Given the description of an element on the screen output the (x, y) to click on. 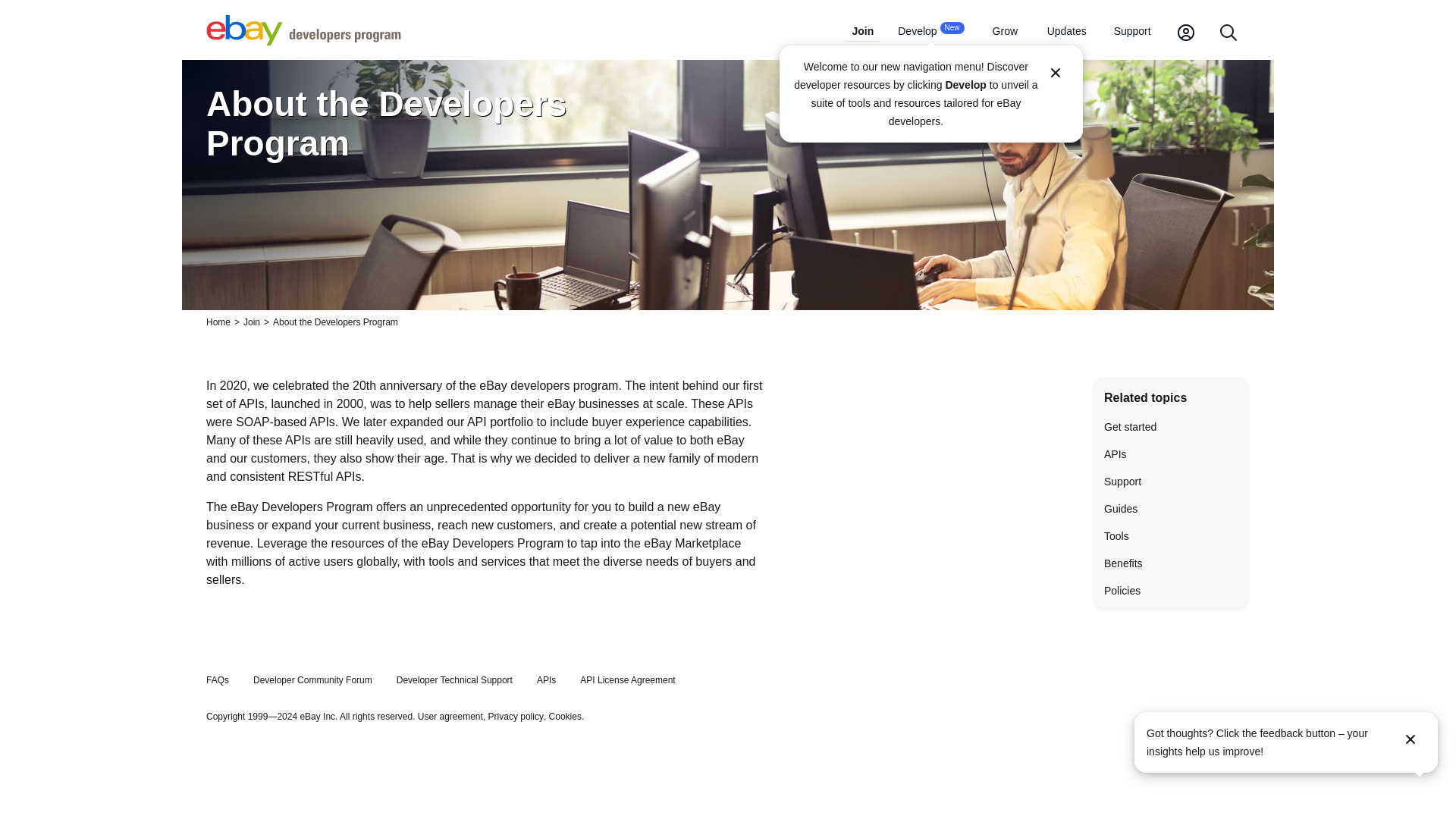
opens in new window or tab (515, 716)
Join (862, 32)
opens in new window or tab (564, 716)
Skip to main content (930, 31)
